Given the description of an element on the screen output the (x, y) to click on. 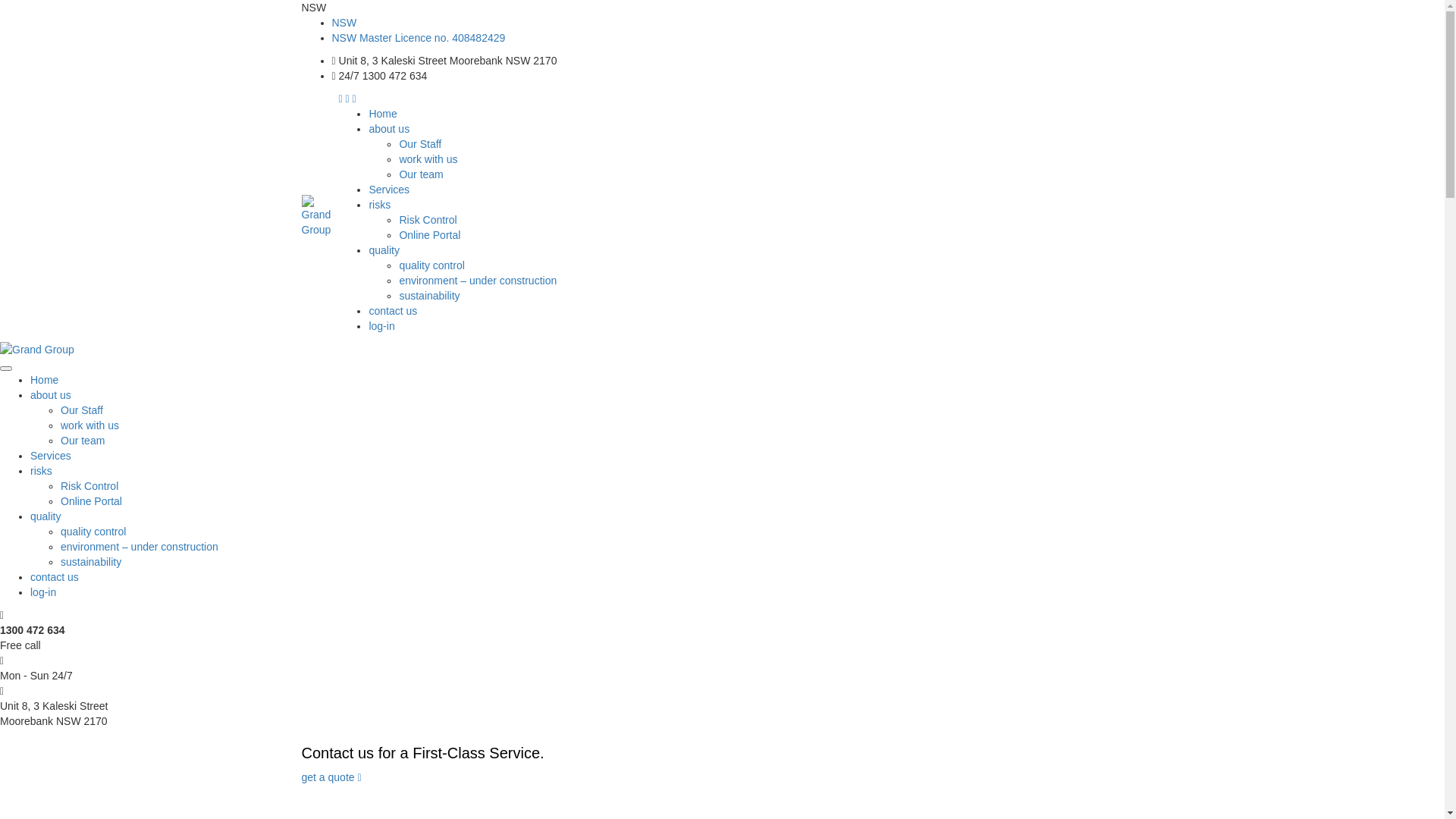
NSW Element type: text (344, 22)
sustainability Element type: text (90, 561)
contact us Element type: text (54, 577)
quality Element type: text (383, 250)
risks Element type: text (41, 470)
Services Element type: text (388, 189)
log-in Element type: text (43, 592)
sustainability Element type: text (428, 295)
NSW Master Licence no. 408482429 Element type: text (418, 37)
Services Element type: text (50, 455)
Online Portal Element type: text (91, 501)
about us Element type: text (388, 128)
Our Staff Element type: text (81, 410)
contact us Element type: text (392, 310)
work with us Element type: text (427, 159)
Our team Element type: text (82, 440)
Risk Control Element type: text (89, 486)
about us Element type: text (50, 395)
Our Staff Element type: text (419, 144)
log-in Element type: text (381, 326)
work with us Element type: text (89, 425)
Home Element type: text (382, 113)
quality control Element type: text (431, 265)
Home Element type: text (44, 379)
Risk Control Element type: text (427, 219)
risks Element type: text (379, 204)
quality control Element type: text (92, 531)
Online Portal Element type: text (429, 235)
quality Element type: text (45, 516)
get a quote Element type: text (331, 777)
Our team Element type: text (420, 174)
